Given the description of an element on the screen output the (x, y) to click on. 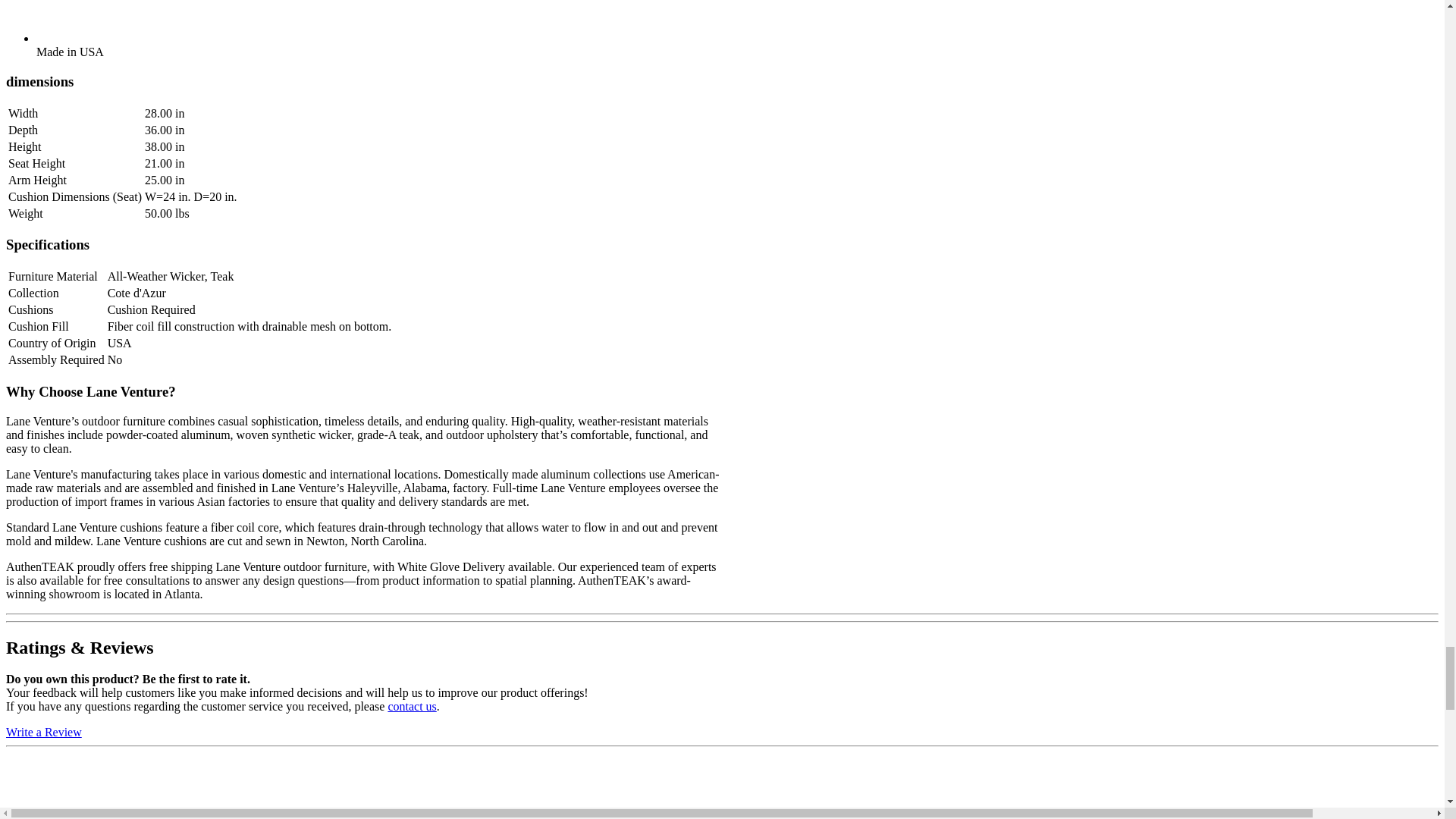
contact us (411, 706)
Write a Review (43, 731)
